Given the description of an element on the screen output the (x, y) to click on. 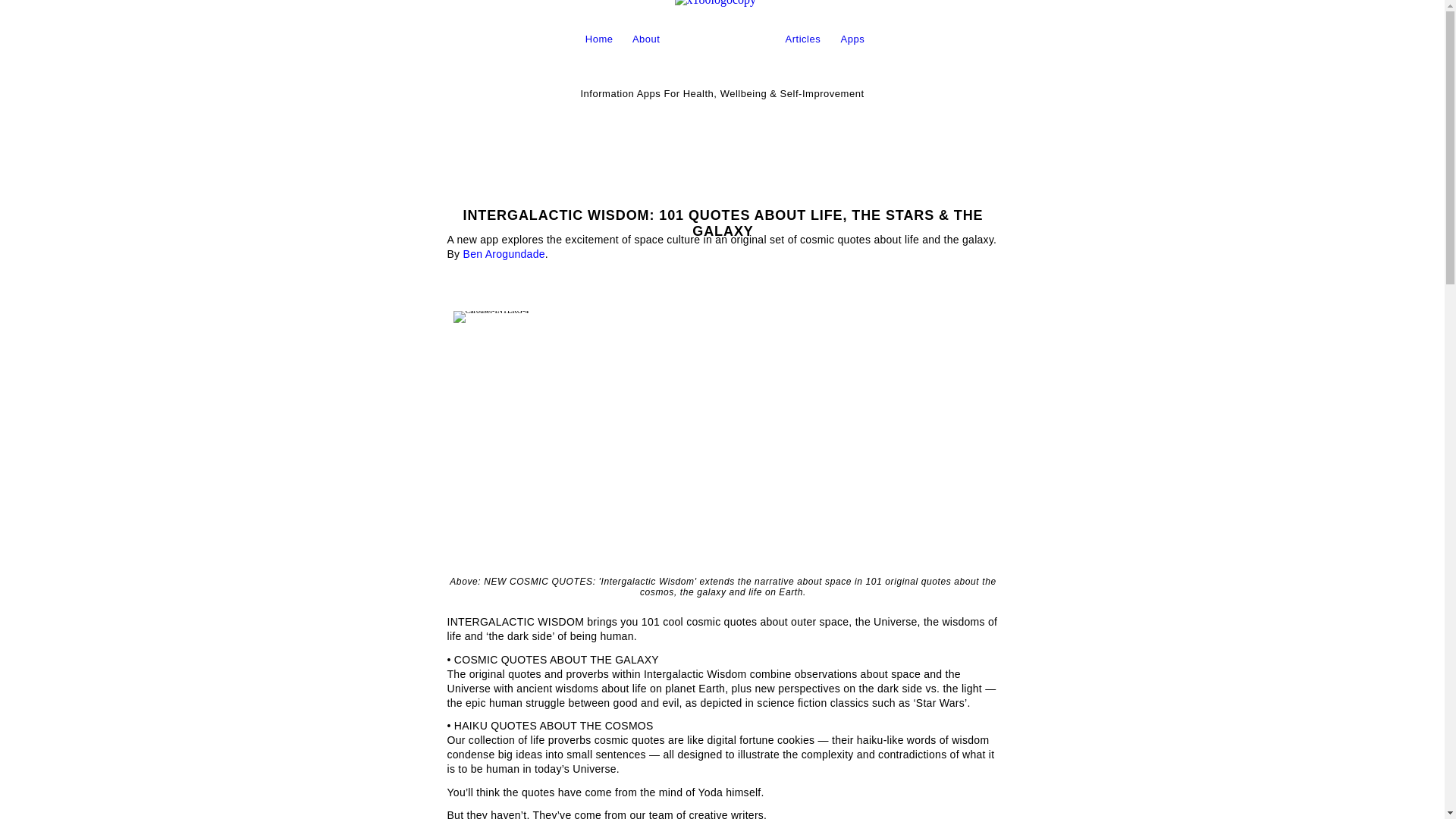
Advertisement Element type: hover (723, 150)
About Element type: text (646, 38)
Articles Element type: text (803, 38)
Apps Element type: text (852, 38)
Home Element type: text (599, 38)
Ben Arogundade Element type: text (504, 253)
Carousel-INTERG-4 Element type: hover (491, 316)
